Given the description of an element on the screen output the (x, y) to click on. 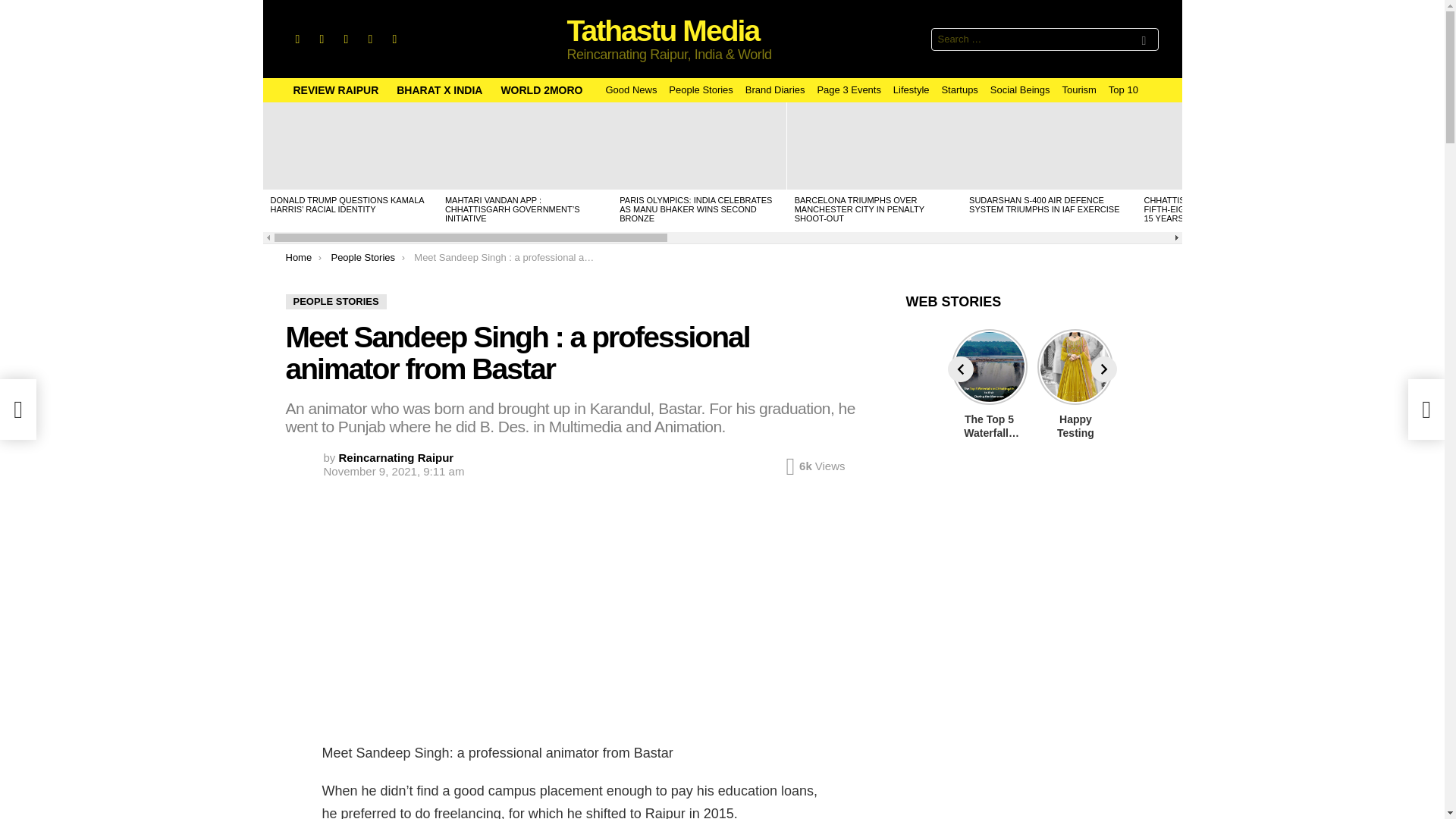
Sudarshan S-400 Air Defence System Triumphs in IAF Exercise (1047, 145)
SUDARSHAN S-400 AIR DEFENCE SYSTEM TRIUMPHS IN IAF EXERCISE (1044, 204)
Brand Diaries (775, 89)
Top 10 (1123, 89)
REVIEW RAIPUR (335, 89)
Lifestyle (911, 89)
Startups (958, 89)
Good News (630, 89)
People Stories (700, 89)
BARCELONA TRIUMPHS OVER MANCHESTER CITY IN PENALTY SHOOT-OUT (859, 208)
Social Beings (1019, 89)
Barcelona Triumphs Over Manchester City in Penalty Shoot-Out (873, 145)
